Given the description of an element on the screen output the (x, y) to click on. 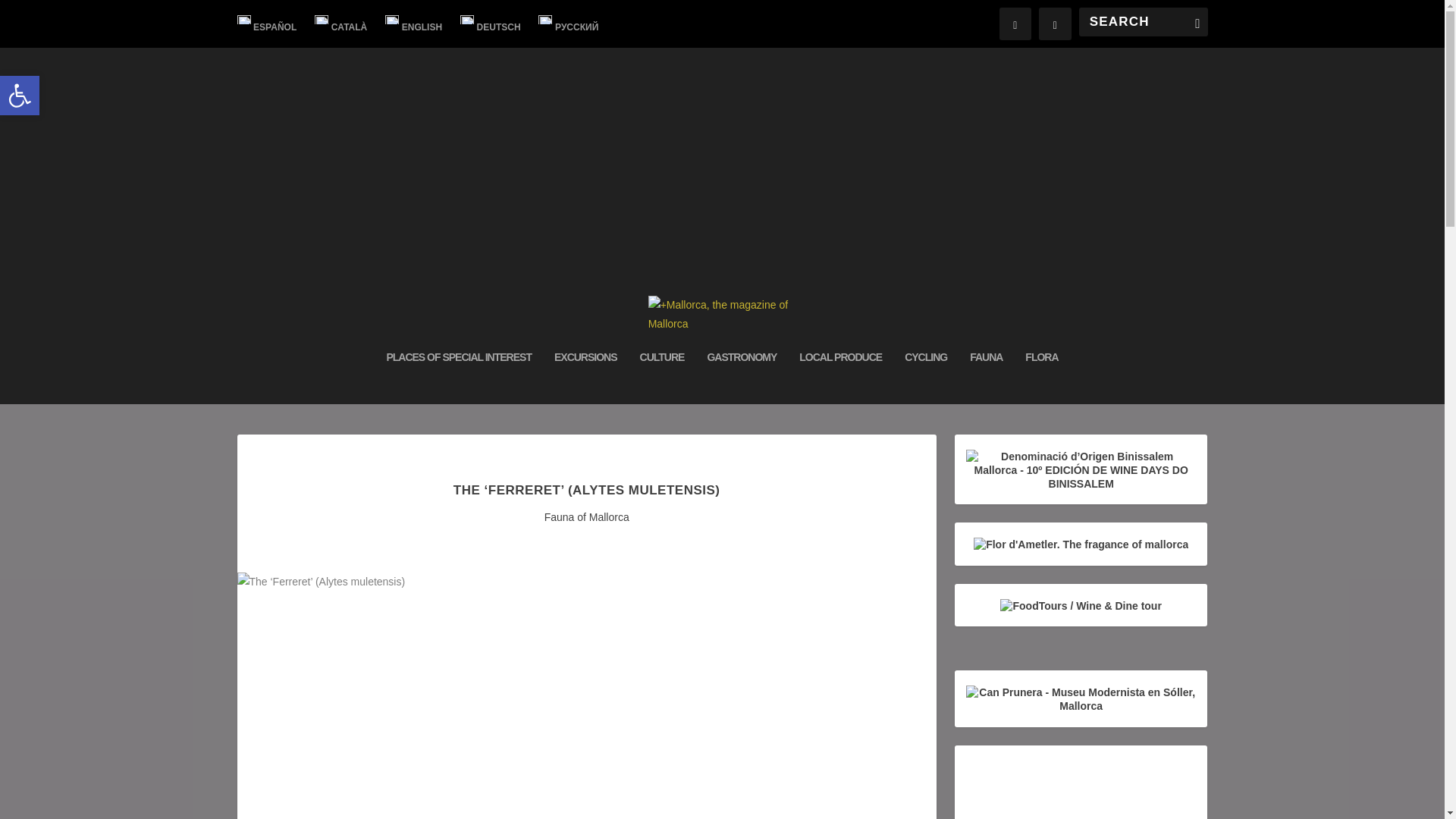
Fauna of Mallorca (586, 517)
EXCURSIONS (585, 376)
DEUTSCH (490, 23)
LOCAL PRODUCE (840, 376)
Deutsch (490, 23)
GASTRONOMY (741, 376)
English (413, 23)
Search for: (1142, 21)
ENGLISH (413, 23)
PLACES OF SPECIAL INTEREST (458, 376)
